Given the description of an element on the screen output the (x, y) to click on. 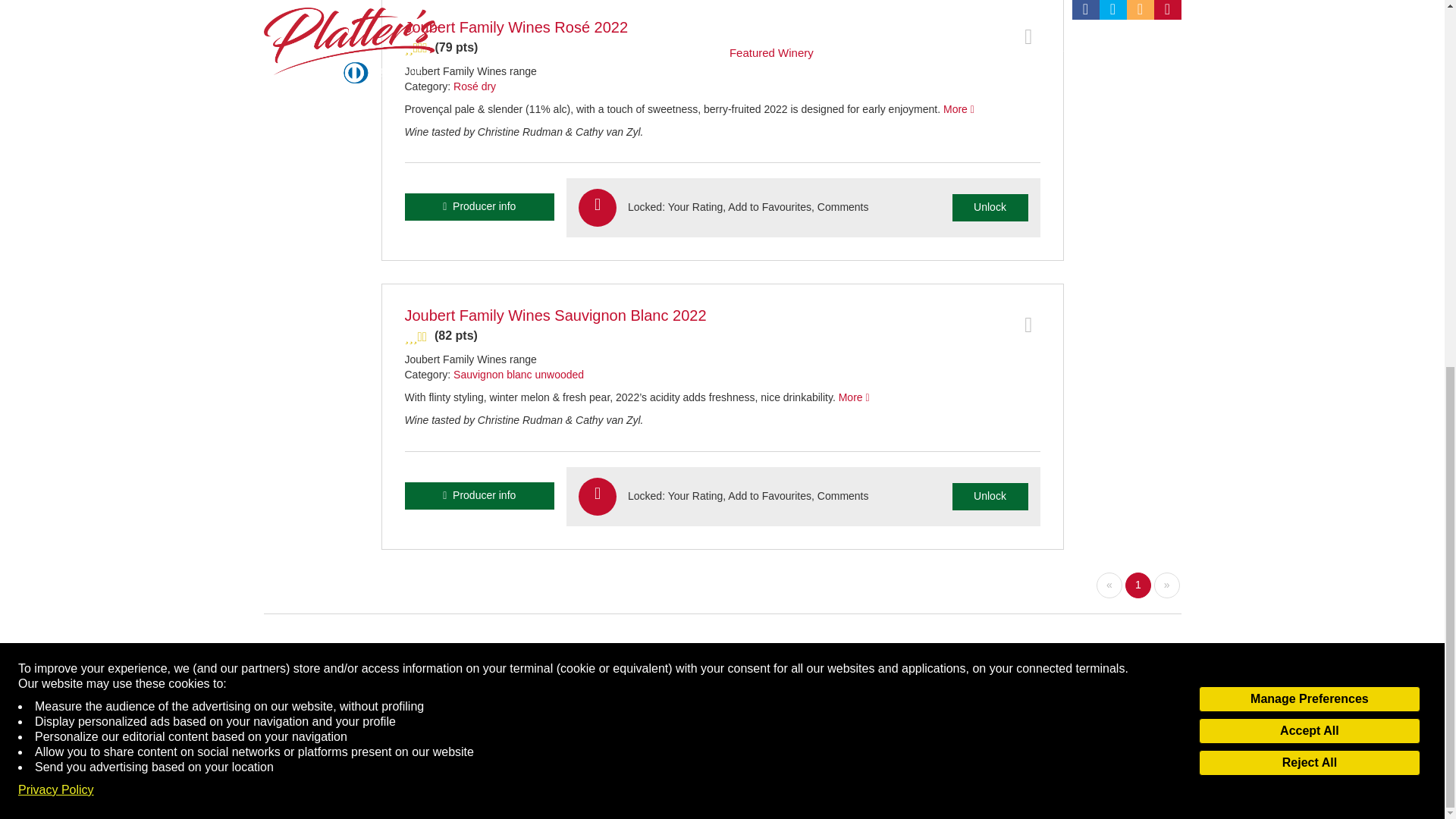
Reject All (1309, 102)
Good everyday drinking (722, 47)
Manage Preferences (1309, 38)
Privacy Policy (55, 129)
Subscribe or login to unlock (989, 496)
Accept All (1309, 70)
Subscribe or login to unlock (989, 207)
Characterful, appealing (722, 335)
